Given the description of an element on the screen output the (x, y) to click on. 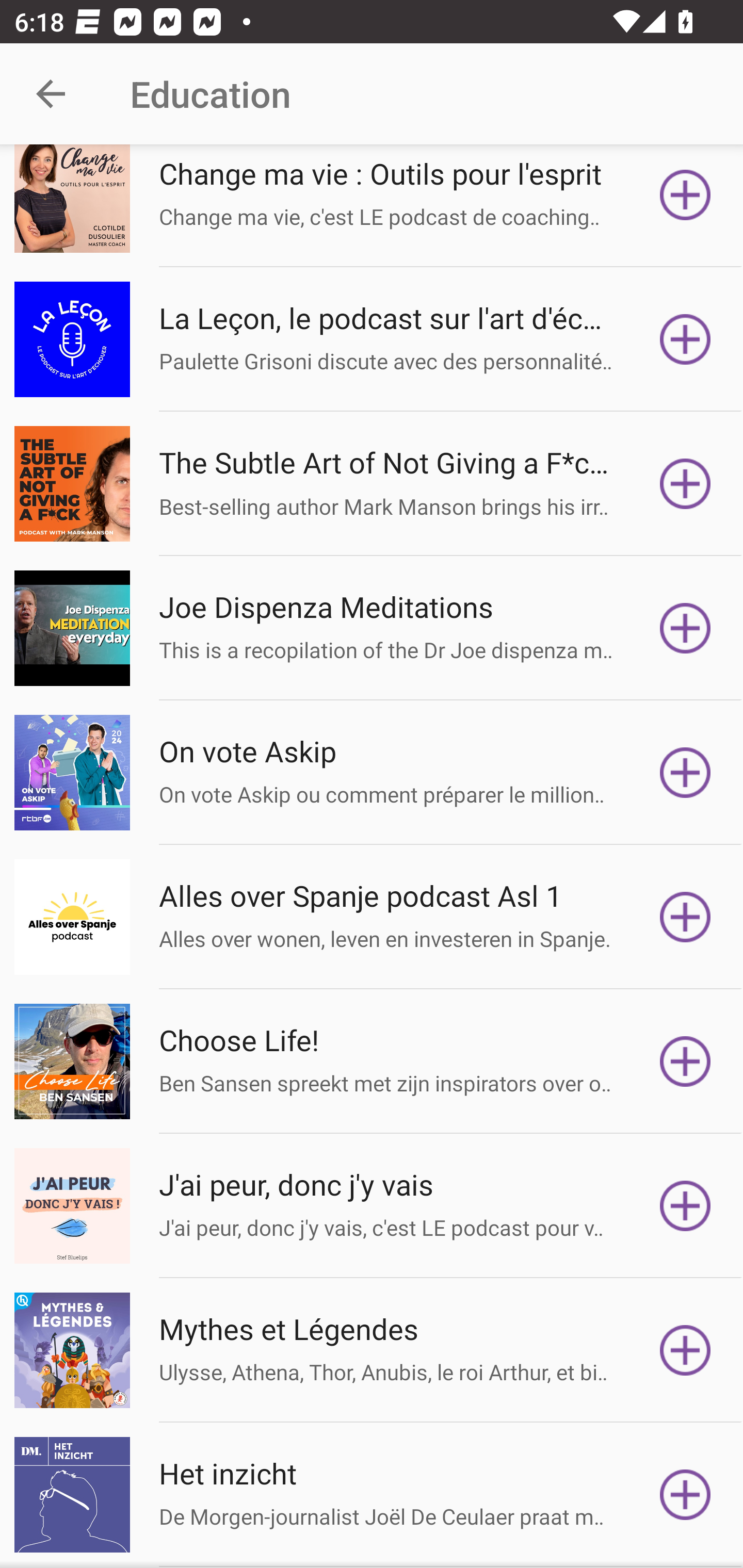
Navigate up (50, 93)
Subscribe (685, 198)
Subscribe (685, 339)
Subscribe (685, 483)
Subscribe (685, 628)
Subscribe (685, 773)
Subscribe (685, 917)
Subscribe (685, 1061)
Subscribe (685, 1205)
Subscribe (685, 1350)
Subscribe (685, 1494)
